Given the description of an element on the screen output the (x, y) to click on. 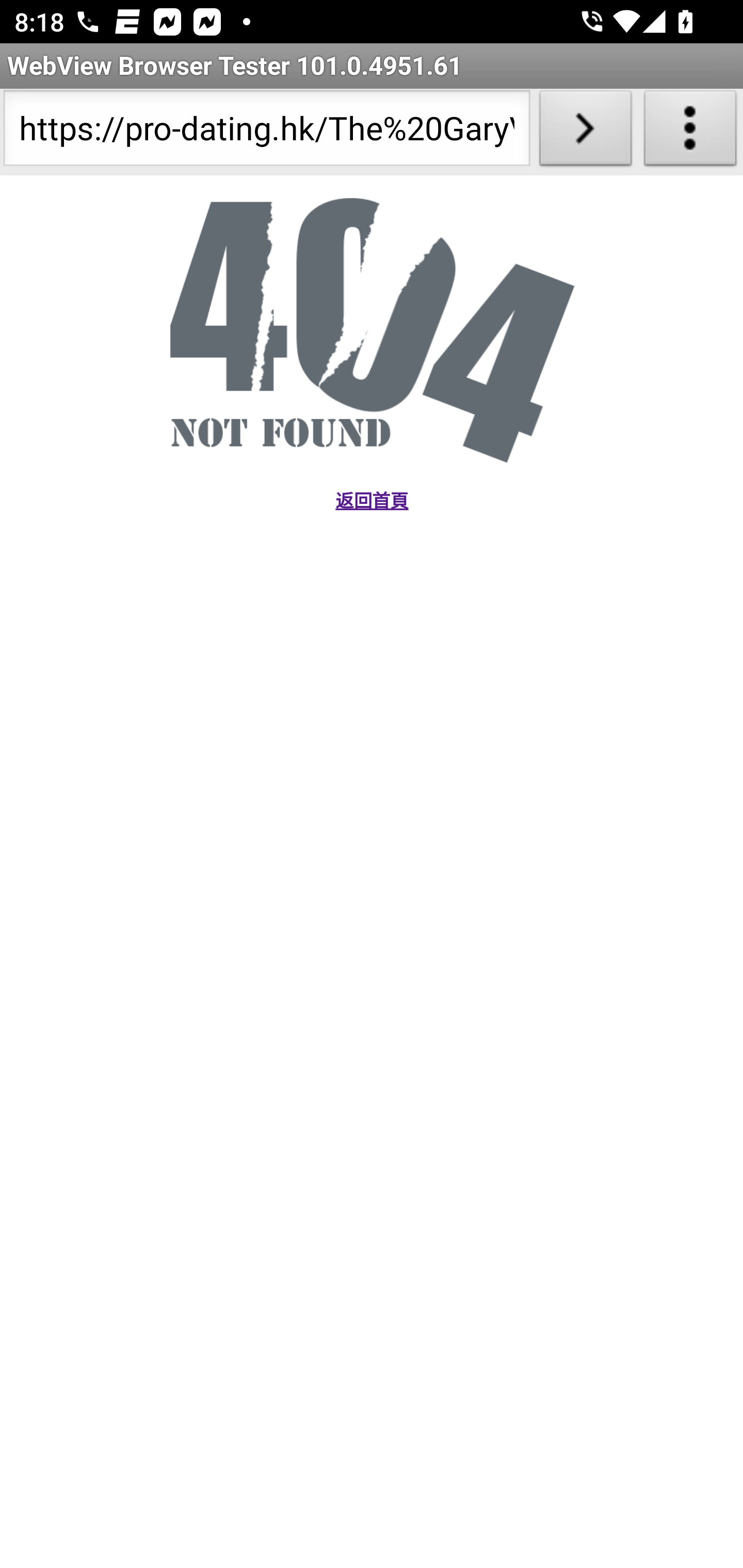
Load URL (585, 132)
About WebView (690, 132)
返回首頁 (370, 500)
